Given the description of an element on the screen output the (x, y) to click on. 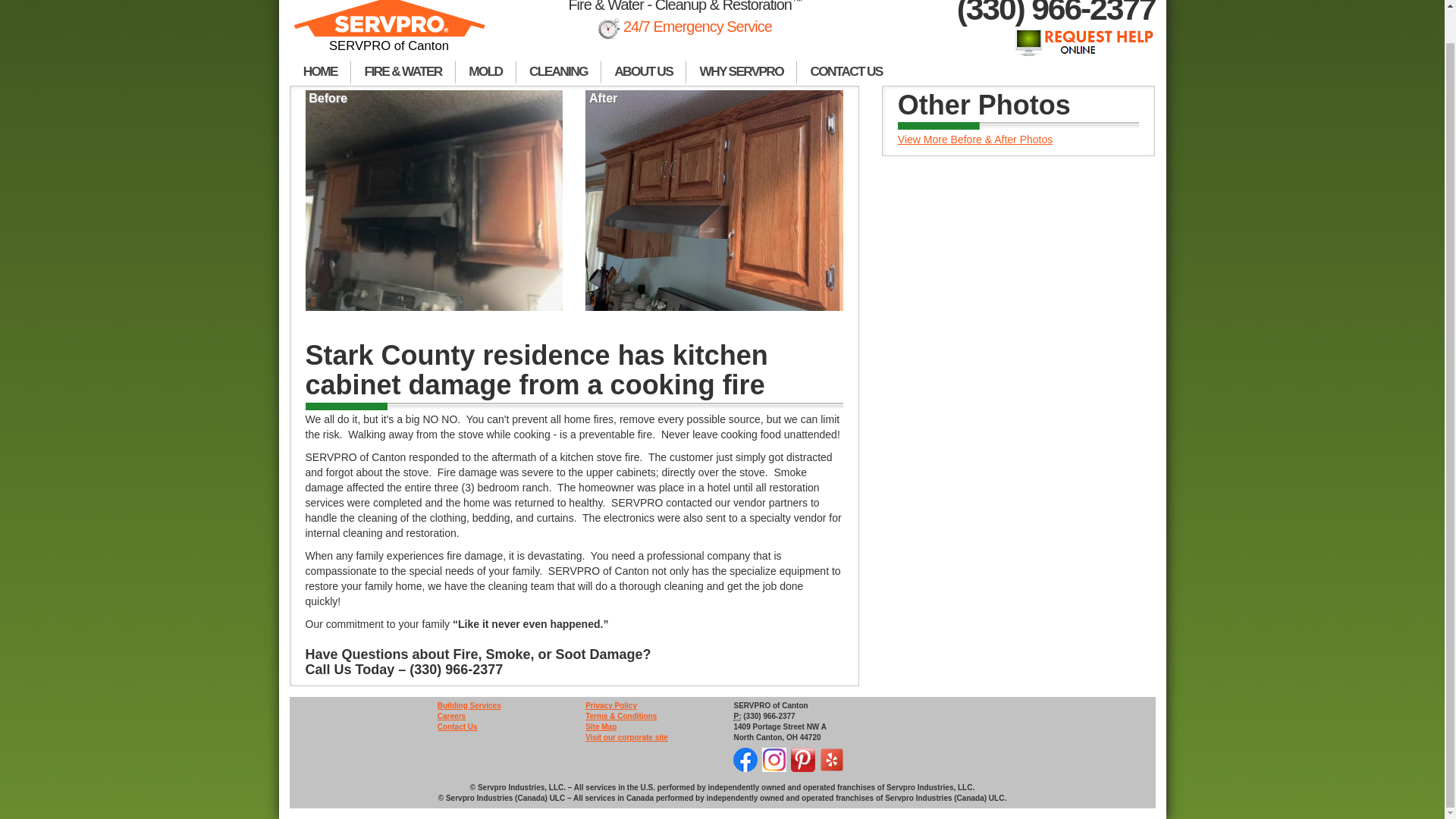
Phone (737, 716)
CLEANING (558, 72)
ABOUT US (643, 72)
HOME (319, 72)
MOLD (485, 72)
SERVPRO of Canton (389, 31)
